Given the description of an element on the screen output the (x, y) to click on. 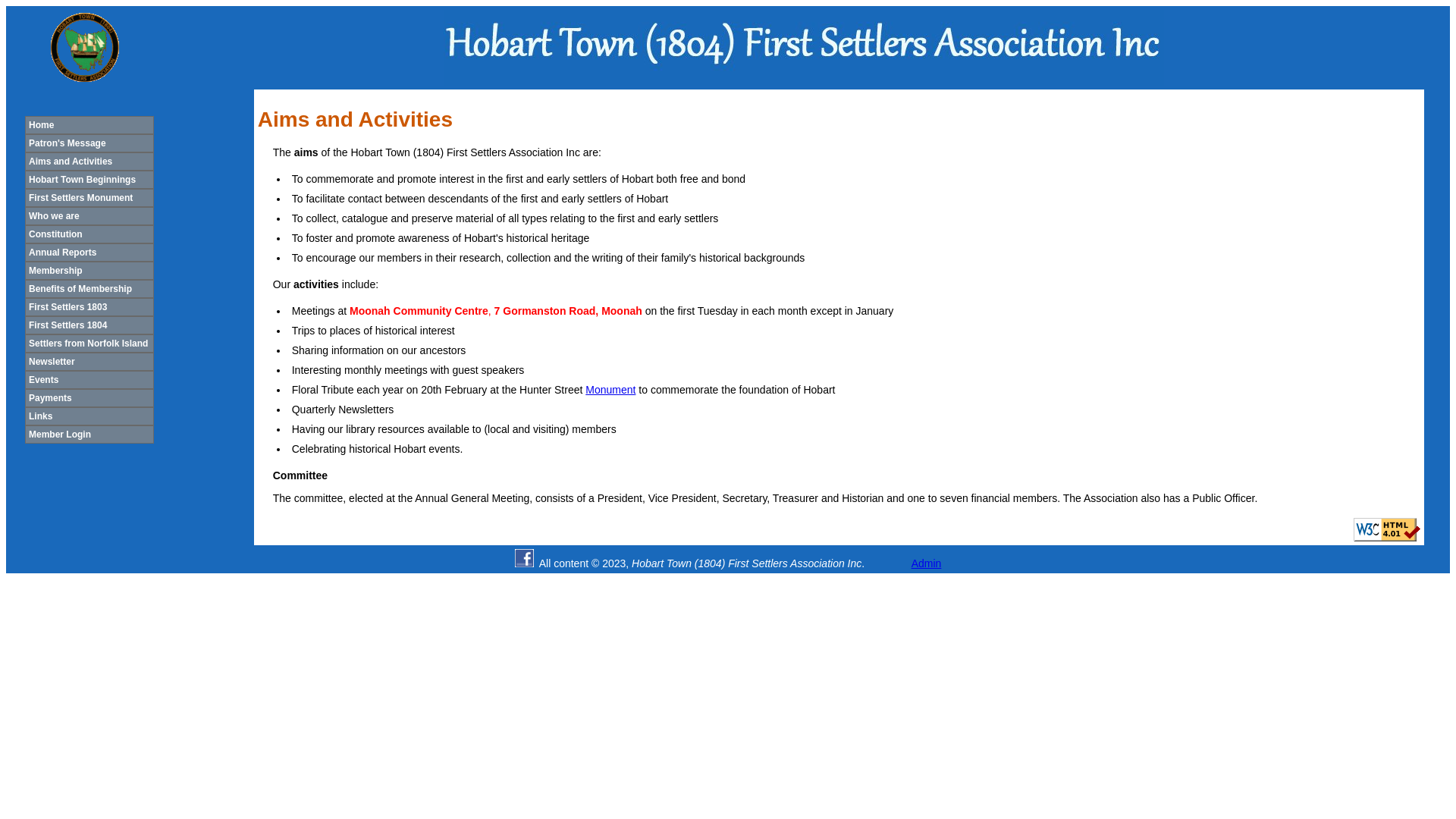
Annual Reports Element type: text (89, 252)
Who we are Element type: text (89, 216)
Payments Element type: text (89, 398)
Constitution Element type: text (89, 234)
Benefits of Membership Element type: text (89, 288)
Events Element type: text (89, 379)
Settlers from Norfolk Island Element type: text (89, 343)
Patron's Message Element type: text (89, 143)
First Settlers 1803 Element type: text (89, 307)
Monument Element type: text (610, 389)
Member Login Element type: text (89, 434)
Admin Element type: text (926, 563)
First Settlers Monument Element type: text (89, 197)
Aims and Activities Element type: text (89, 161)
Newsletter Element type: text (89, 361)
Home Element type: text (89, 125)
Links Element type: text (89, 416)
Hobart Town Beginnings Element type: text (89, 179)
First Settlers 1804 Element type: text (89, 325)
Membership Element type: text (89, 270)
